Given the description of an element on the screen output the (x, y) to click on. 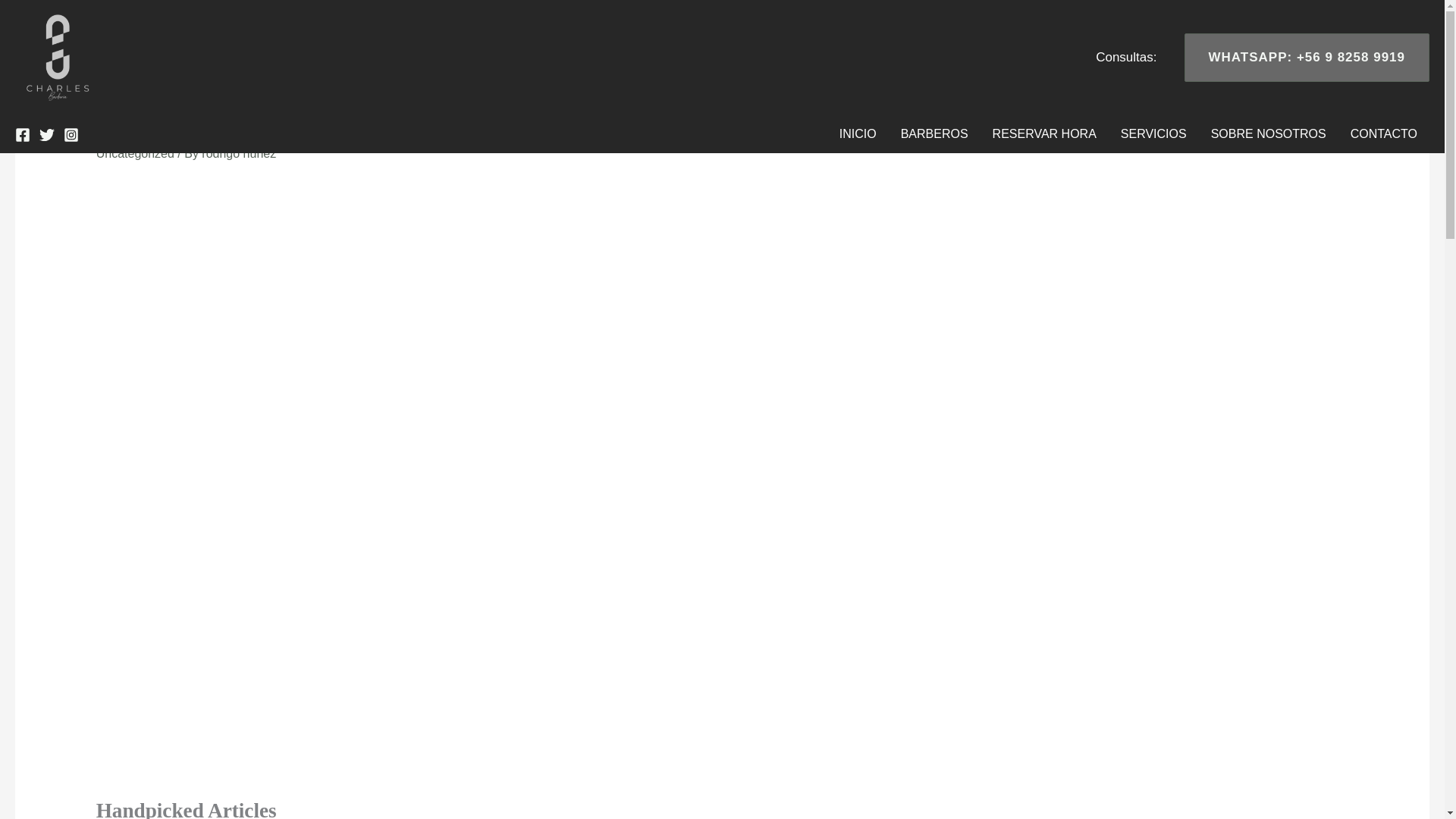
SOBRE NOSOTROS (1268, 134)
Uncategorized (135, 153)
View all posts by rodrigo nunez (239, 153)
BARBEROS (933, 134)
CONTACTO (1383, 134)
RESERVAR HORA (1043, 134)
SERVICIOS (1153, 134)
INICIO (857, 134)
rodrigo nunez (239, 153)
